Given the description of an element on the screen output the (x, y) to click on. 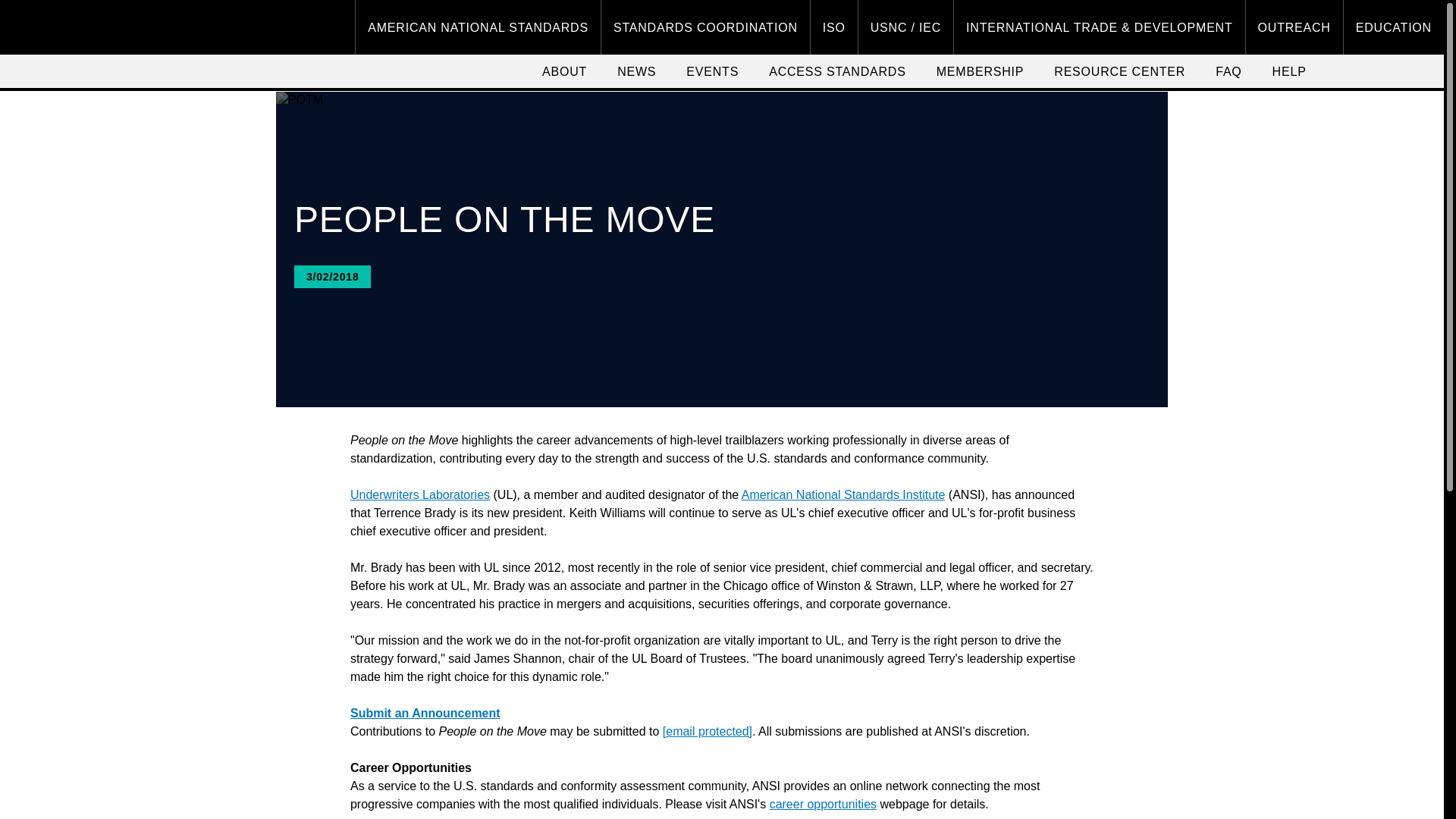
Home (60, 26)
STANDARDS COORDINATION (705, 27)
AMERICAN NATIONAL STANDARDS (477, 27)
